Given the description of an element on the screen output the (x, y) to click on. 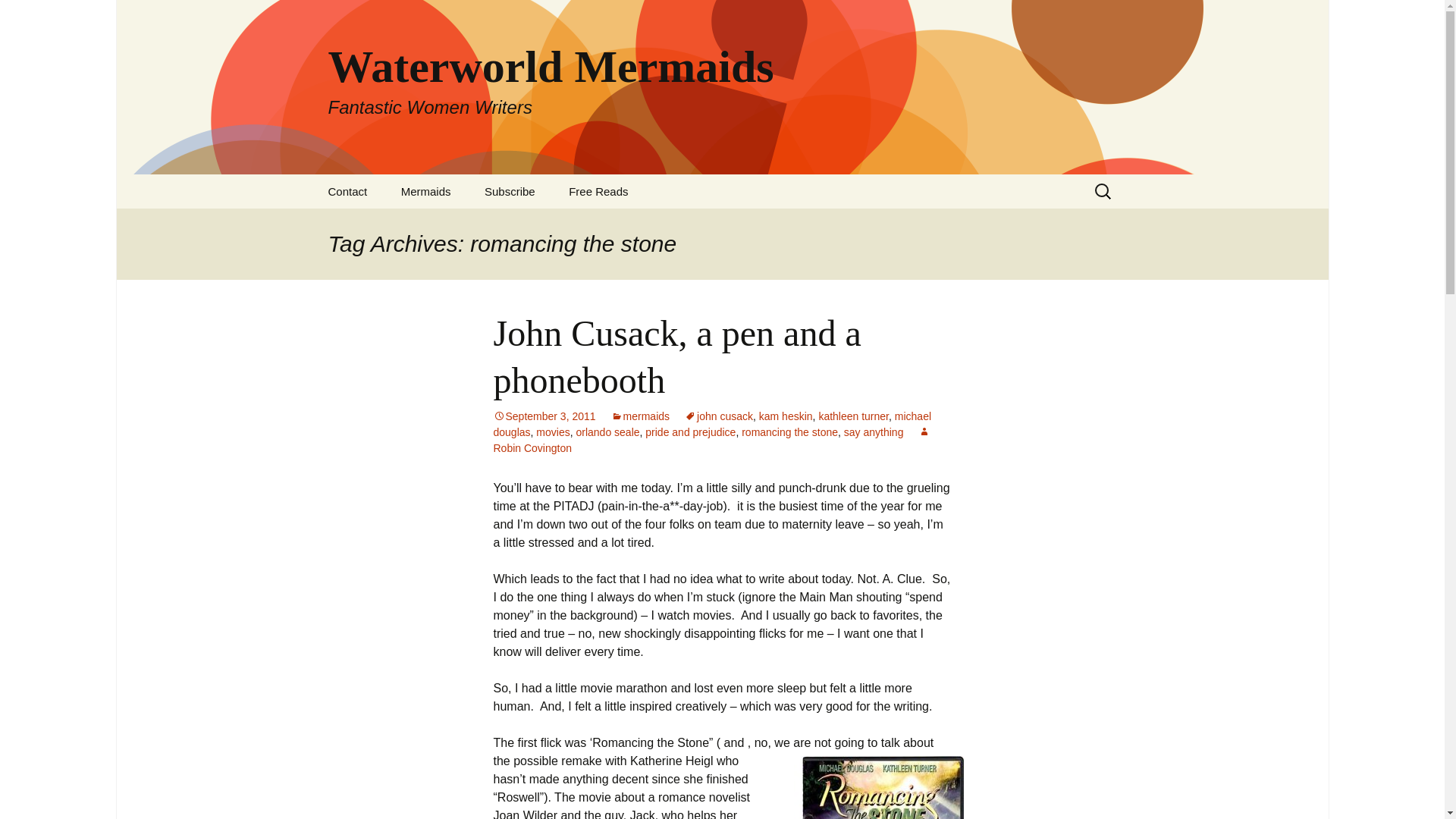
September 3, 2011 (544, 416)
Search (18, 15)
kathleen turner (853, 416)
Permalink to John Cusack, a pen and a phonebooth (544, 416)
View all posts by Robin Covington (711, 439)
Free Reads (598, 191)
Contact (718, 416)
Skip to content (347, 191)
